Given the description of an element on the screen output the (x, y) to click on. 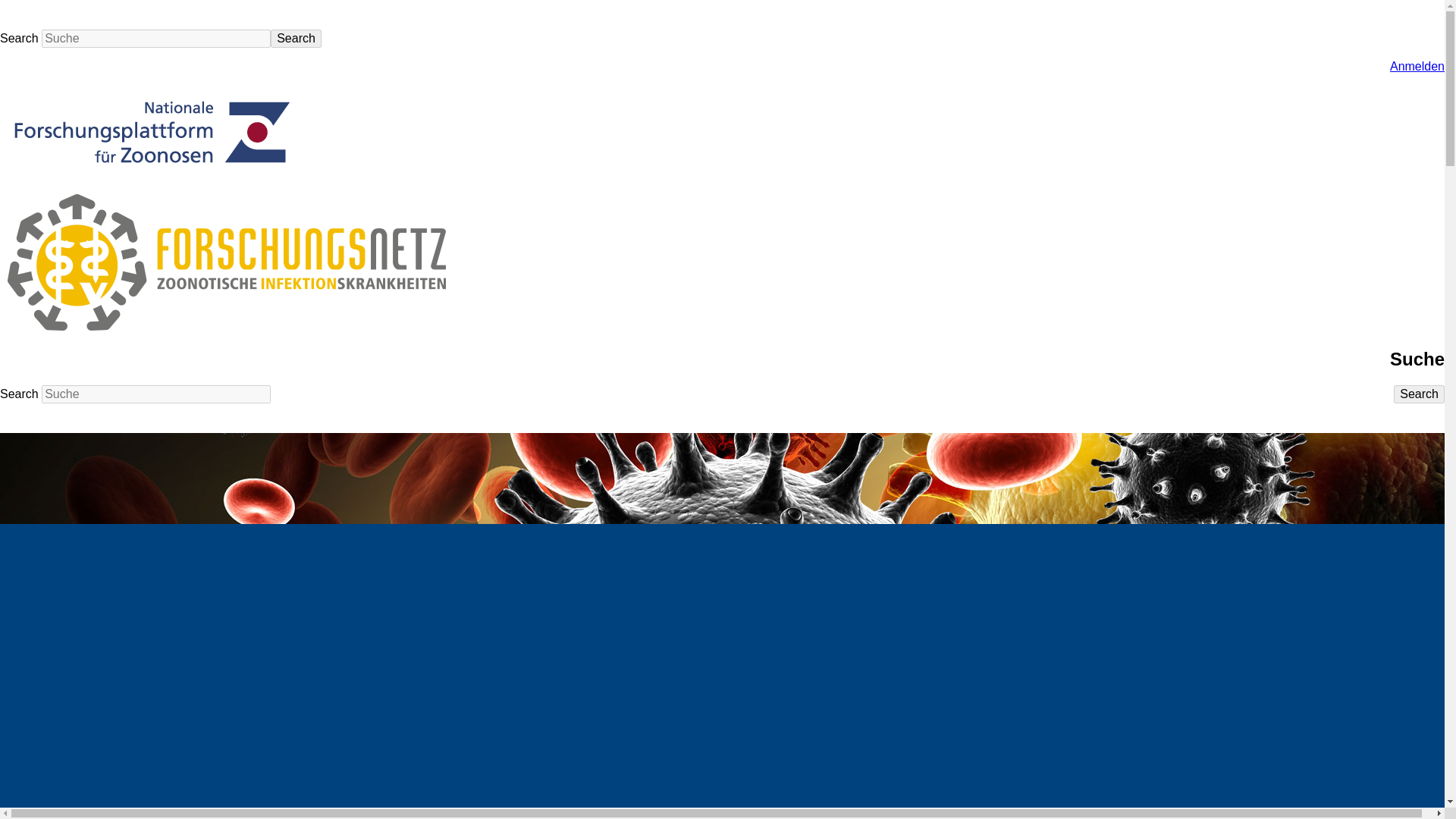
Menu (16, 13)
Menu (16, 416)
Search (295, 38)
Search (1418, 393)
MENU (16, 416)
Anmelden (1417, 65)
Search (295, 38)
Home (151, 173)
Search (1418, 393)
MENU (16, 13)
